Given the description of an element on the screen output the (x, y) to click on. 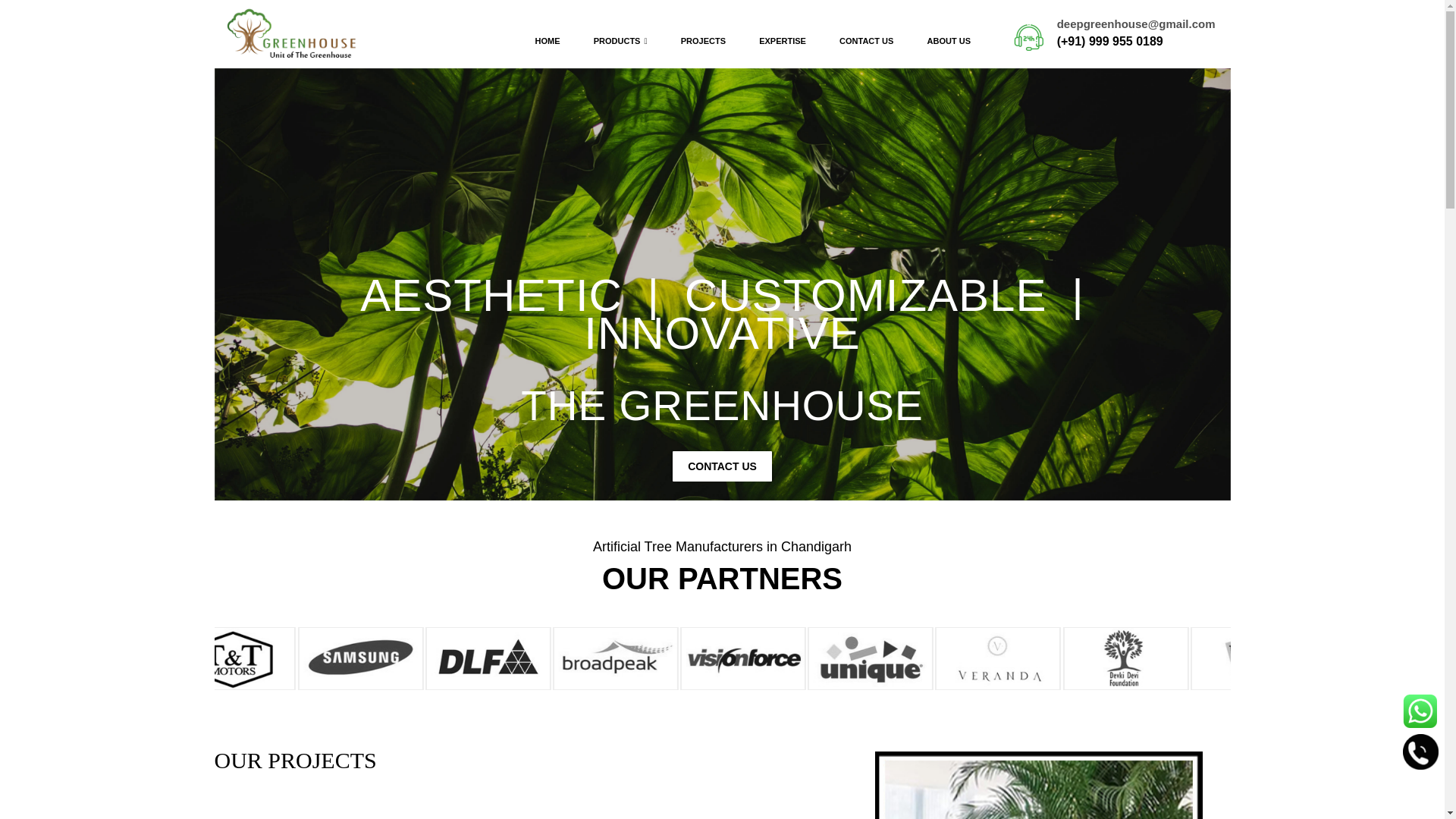
HOME (547, 41)
PROJECTS (703, 41)
CONTACT US (866, 41)
EXPERTISE (782, 41)
PRODUCTS (620, 41)
ABOUT US (949, 41)
